Given the description of an element on the screen output the (x, y) to click on. 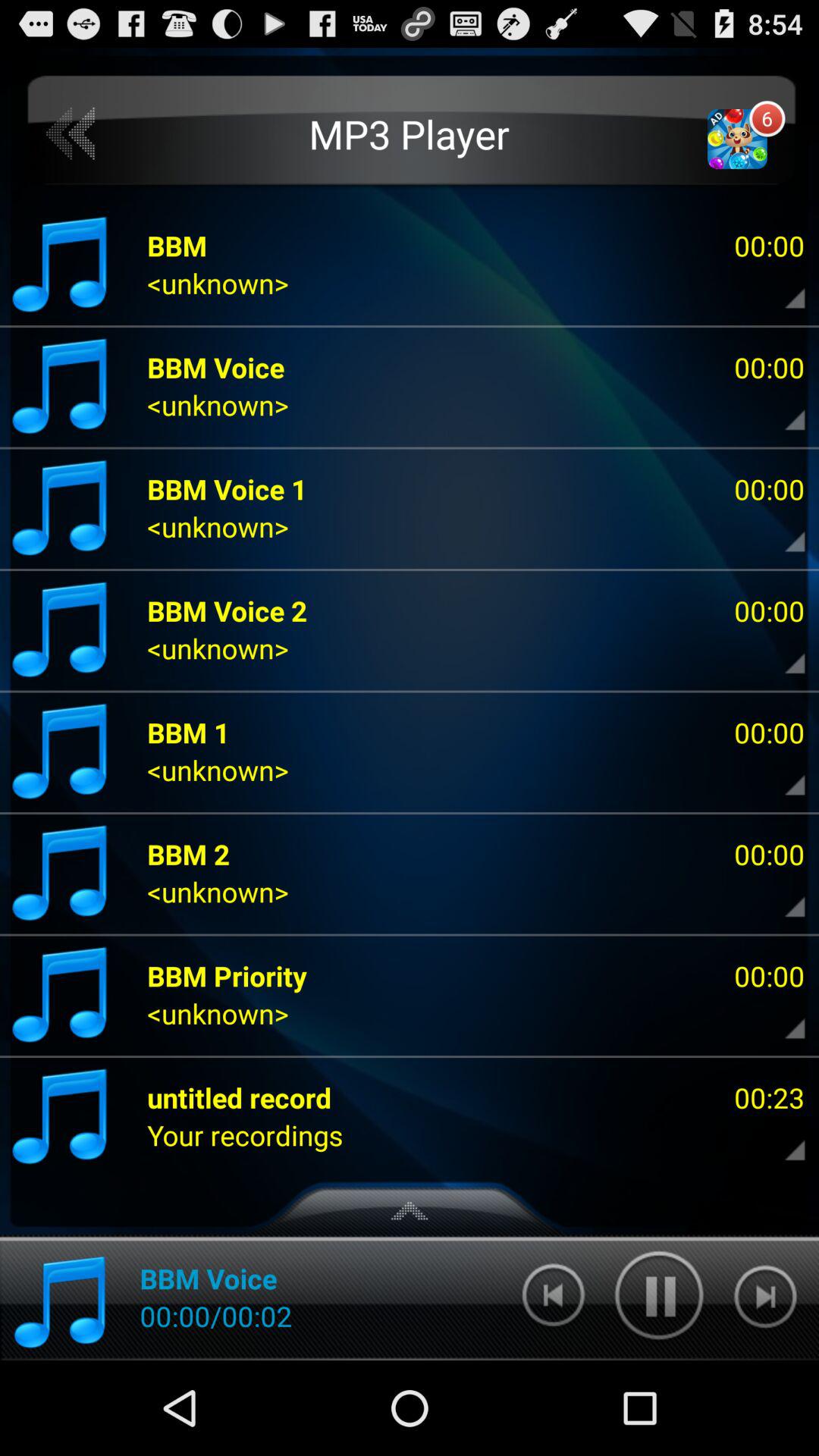
scroll to your recordings (244, 1134)
